Given the description of an element on the screen output the (x, y) to click on. 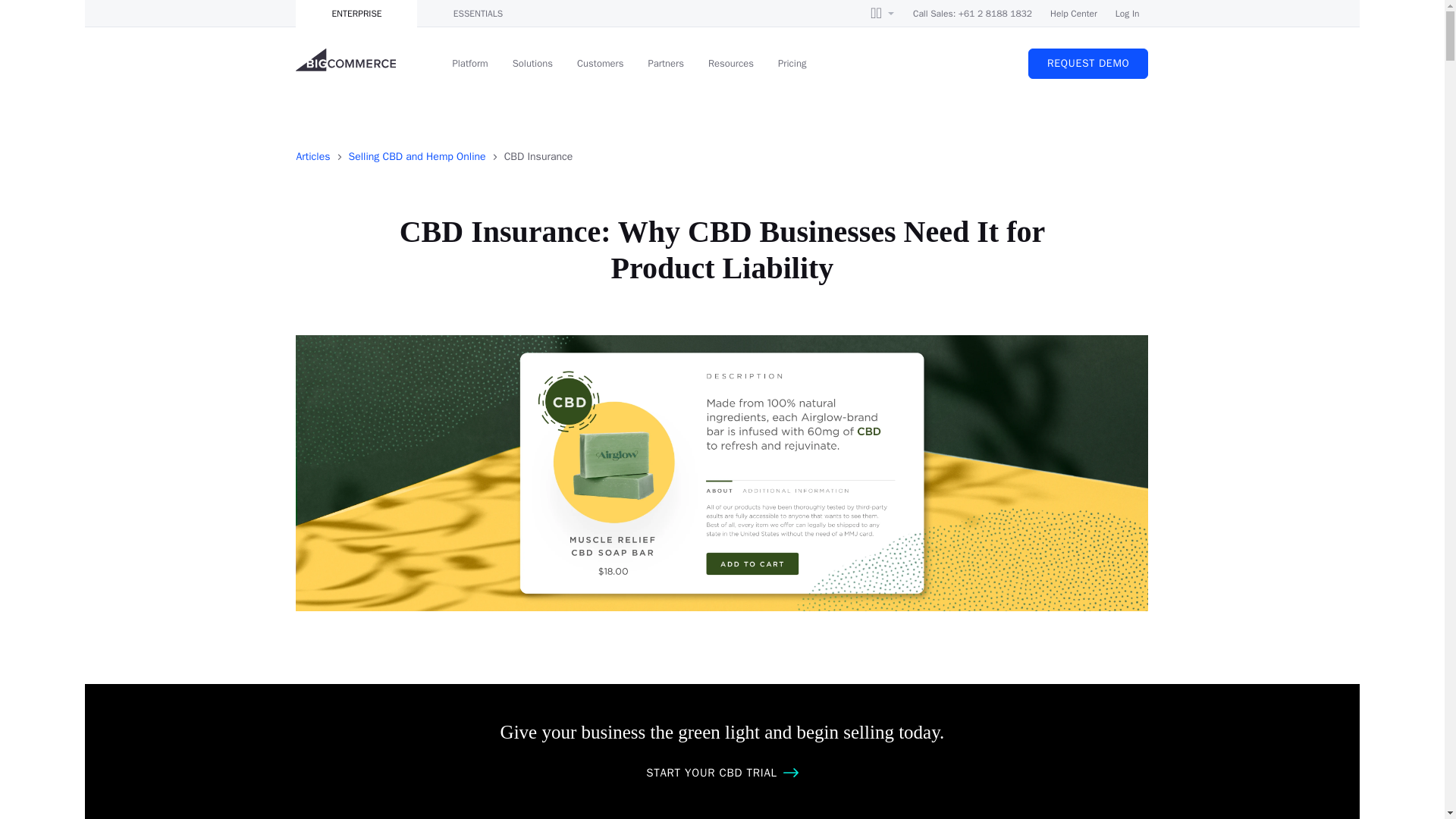
ESSENTIALS (477, 13)
Help Center (1073, 13)
ENTERPRISE (355, 13)
